Given the description of an element on the screen output the (x, y) to click on. 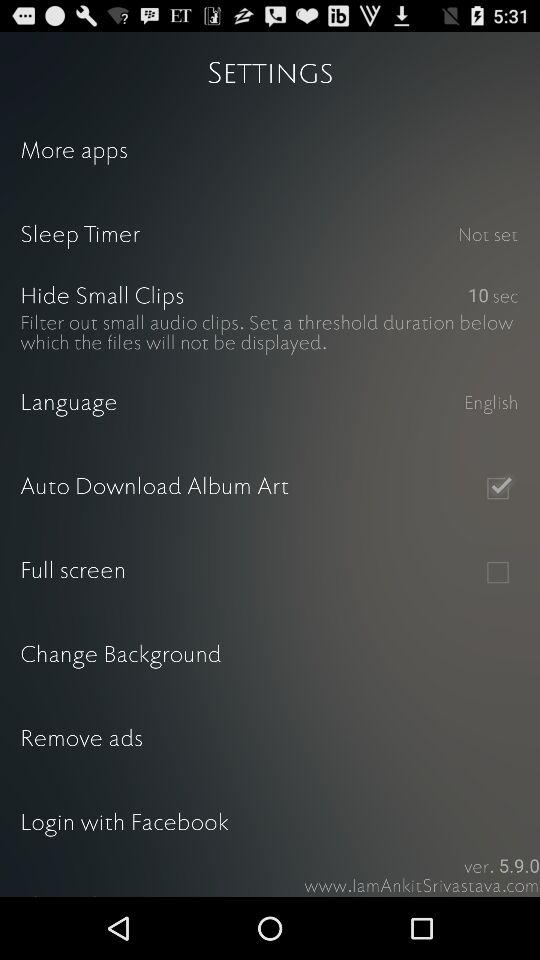
toggle if album art is downloaded automatically (498, 488)
